Given the description of an element on the screen output the (x, y) to click on. 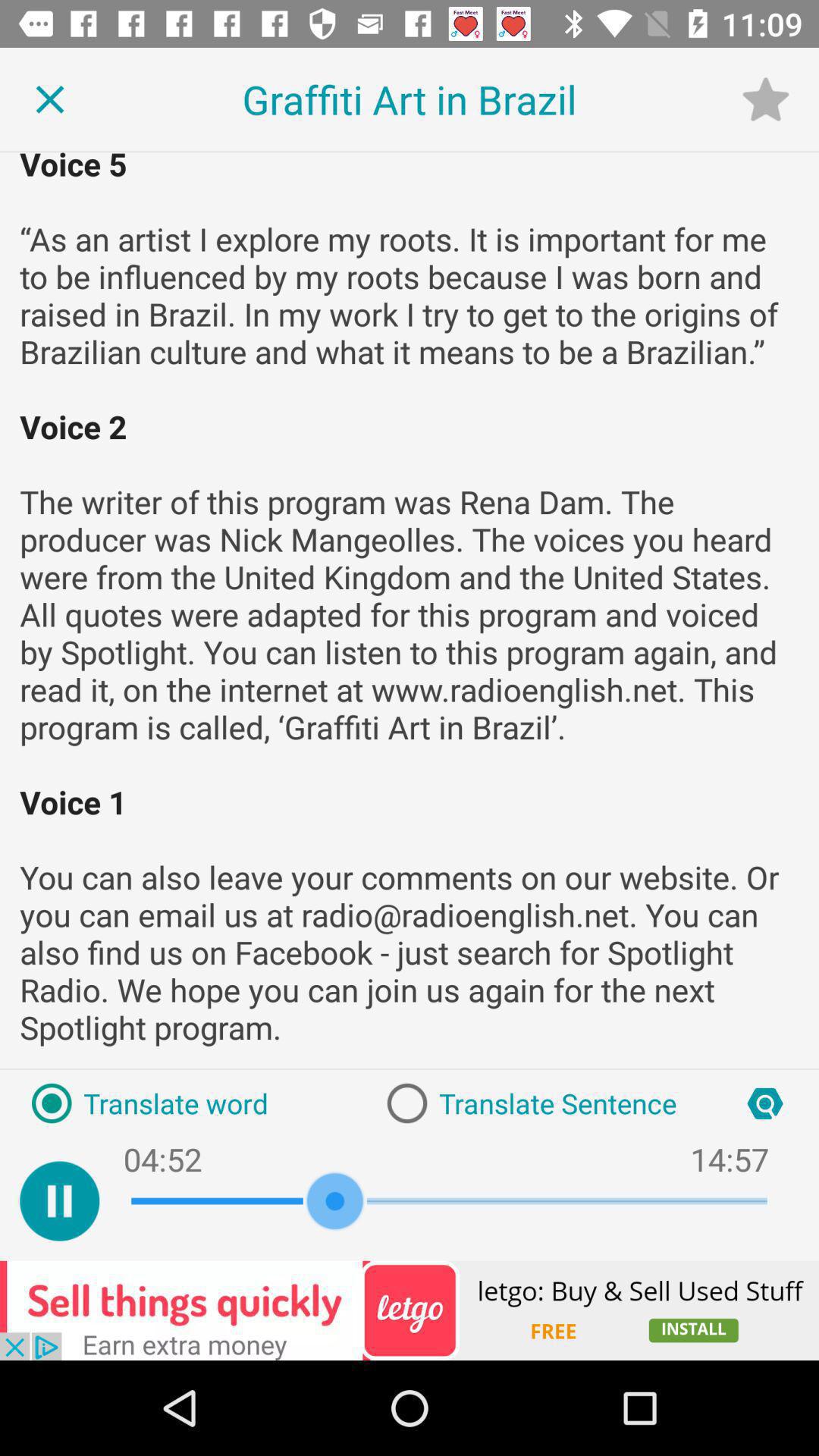
advertisement (409, 1310)
